Given the description of an element on the screen output the (x, y) to click on. 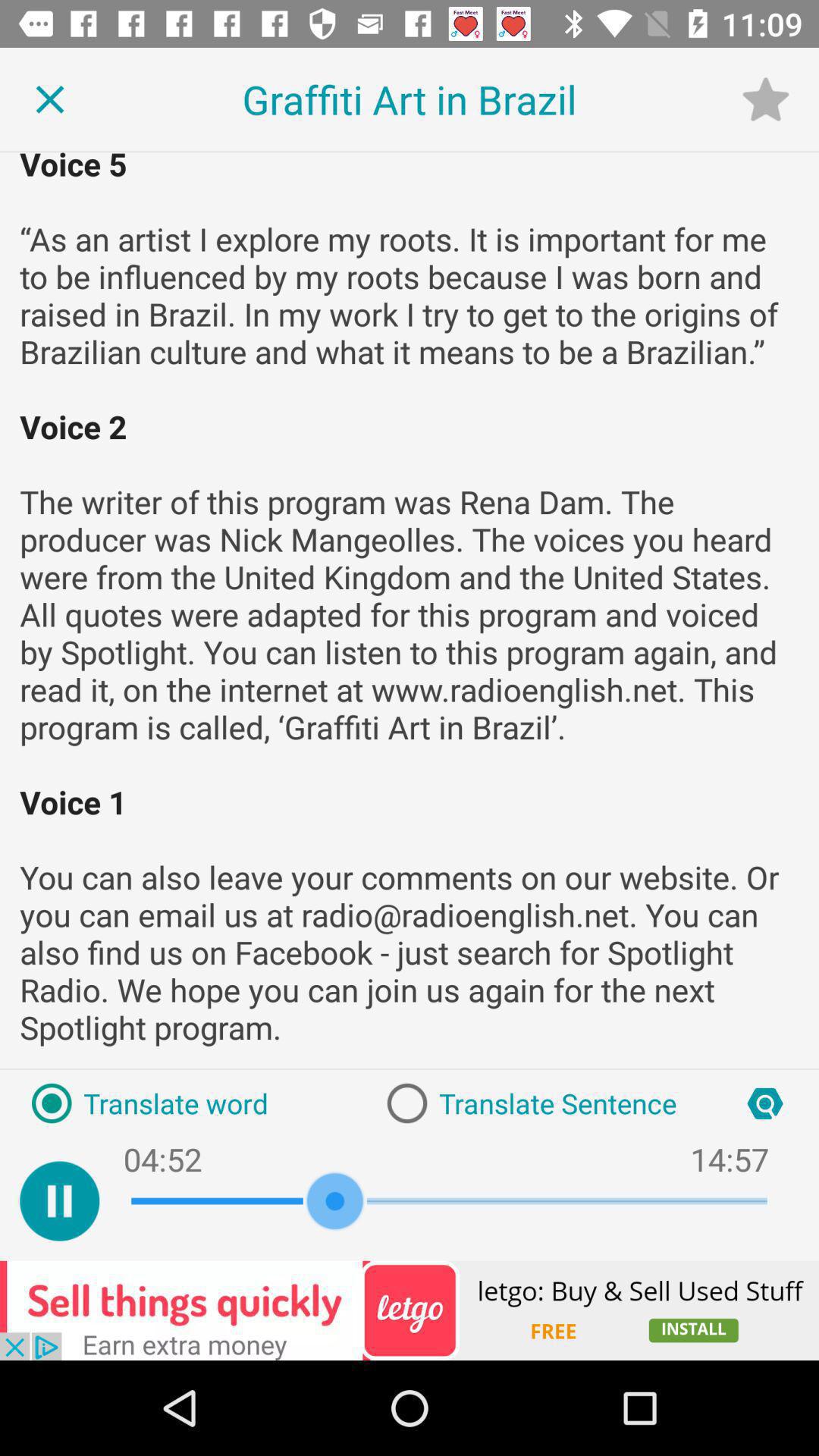
advertisement (409, 1310)
